Given the description of an element on the screen output the (x, y) to click on. 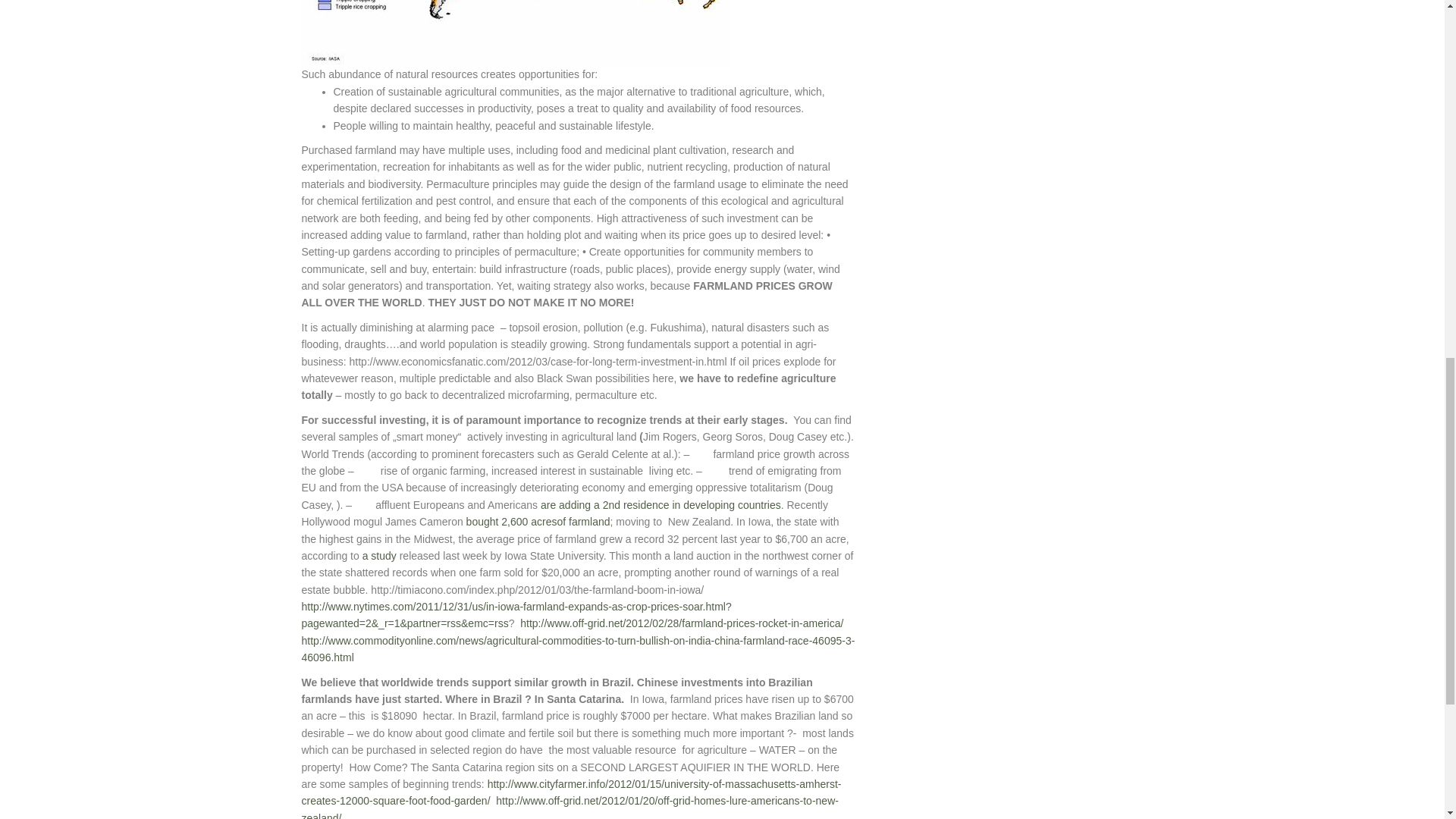
bought 2,600 acresof farmland (536, 521)
are adding a 2nd residence in developing countries (660, 504)
a study (379, 555)
World  land resources (515, 33)
